Given the description of an element on the screen output the (x, y) to click on. 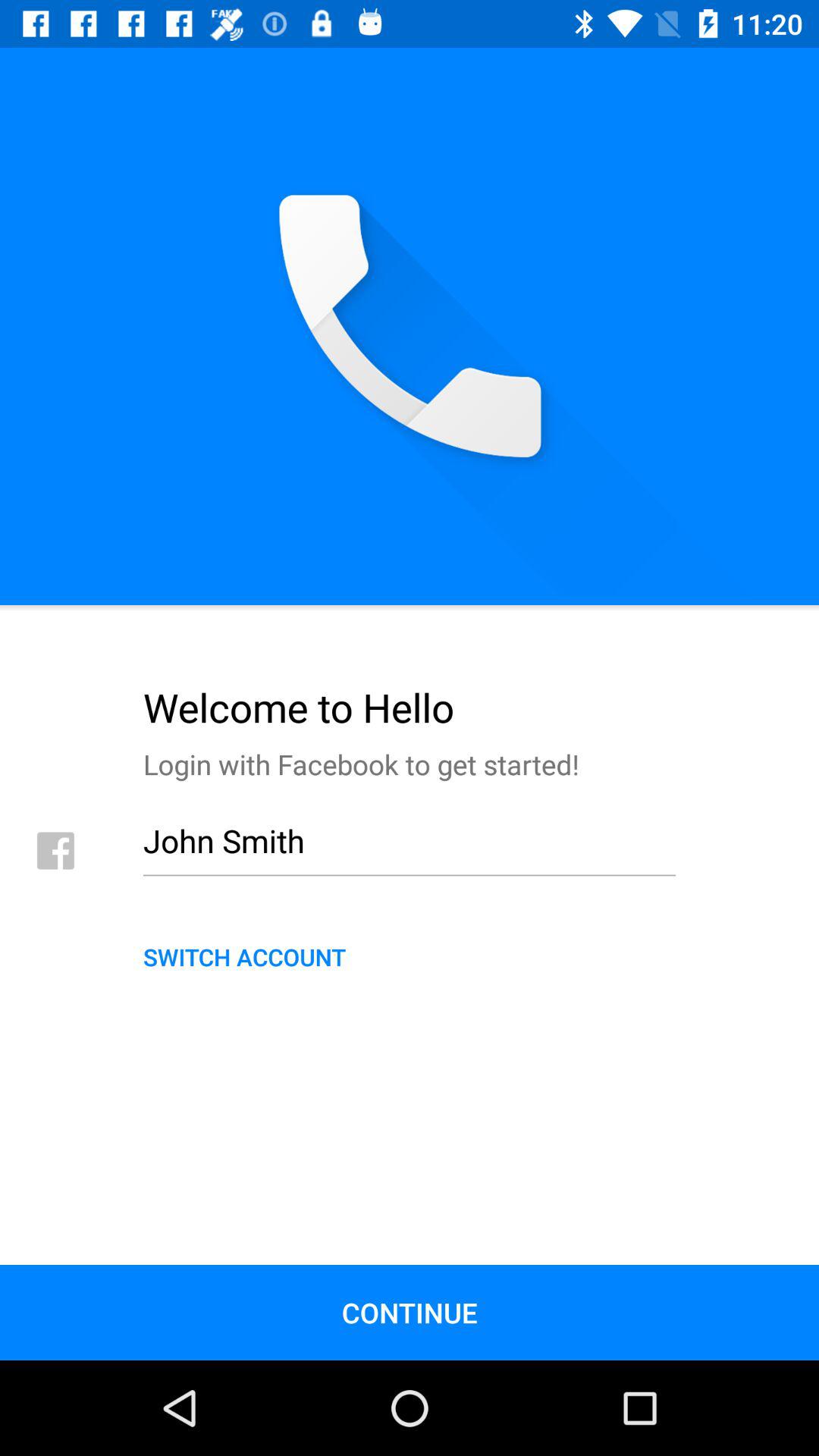
scroll to the continue item (409, 1312)
